Given the description of an element on the screen output the (x, y) to click on. 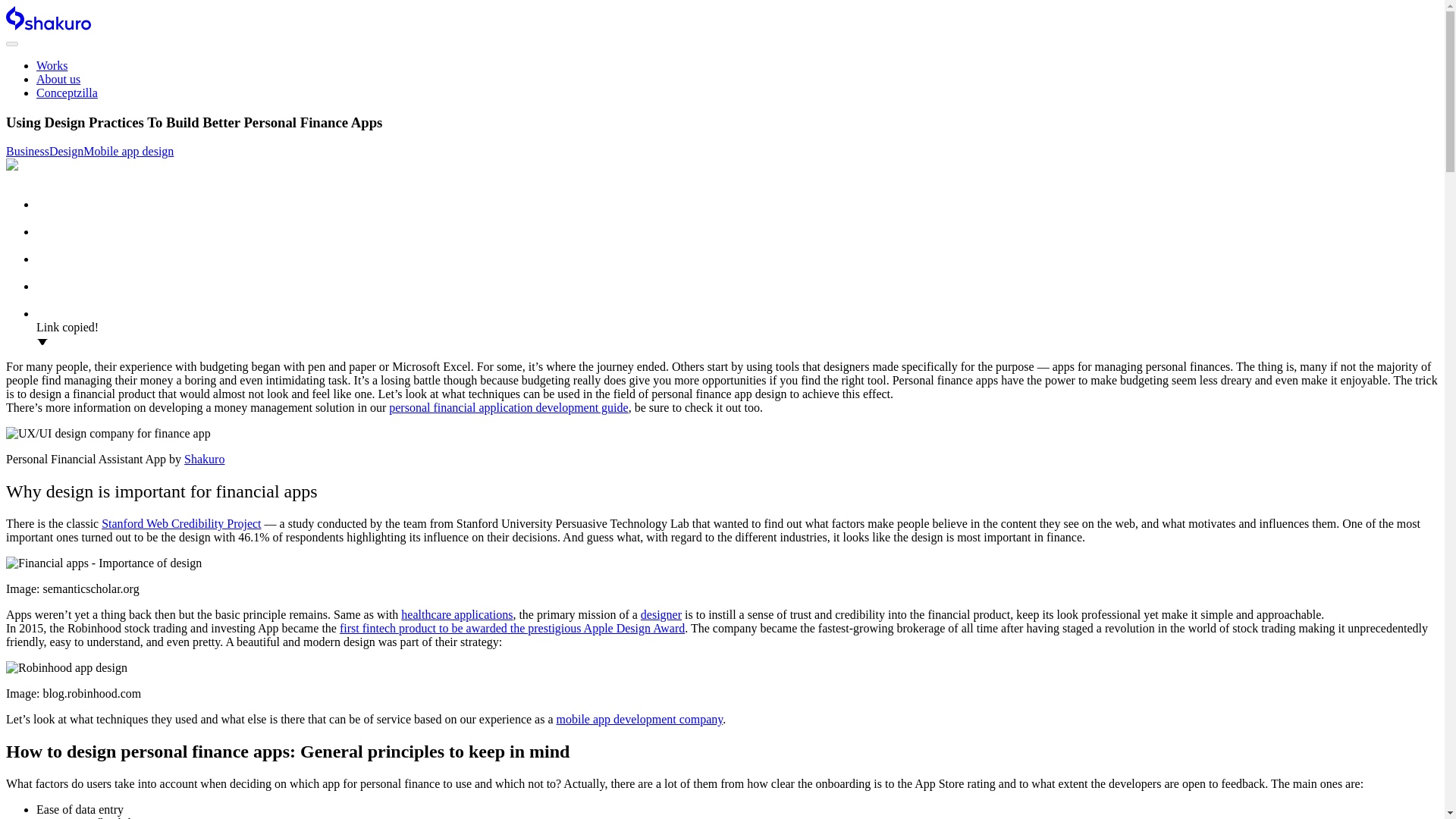
healthcare applications (456, 614)
Mobile app design (127, 151)
About us (58, 78)
Works (51, 65)
Shakuro (204, 459)
designer (660, 614)
personal financial application development guide (507, 407)
Business (27, 151)
Stanford Web Credibility Project (180, 522)
mobile app development company (639, 718)
Conceptzilla (66, 92)
Design (65, 151)
